Given the description of an element on the screen output the (x, y) to click on. 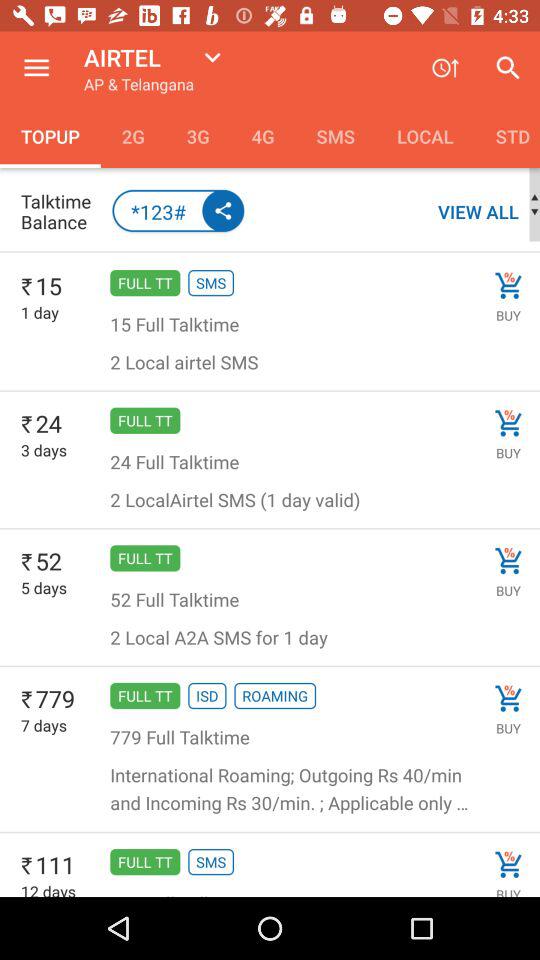
tap the item above the talktime balance (132, 136)
